Given the description of an element on the screen output the (x, y) to click on. 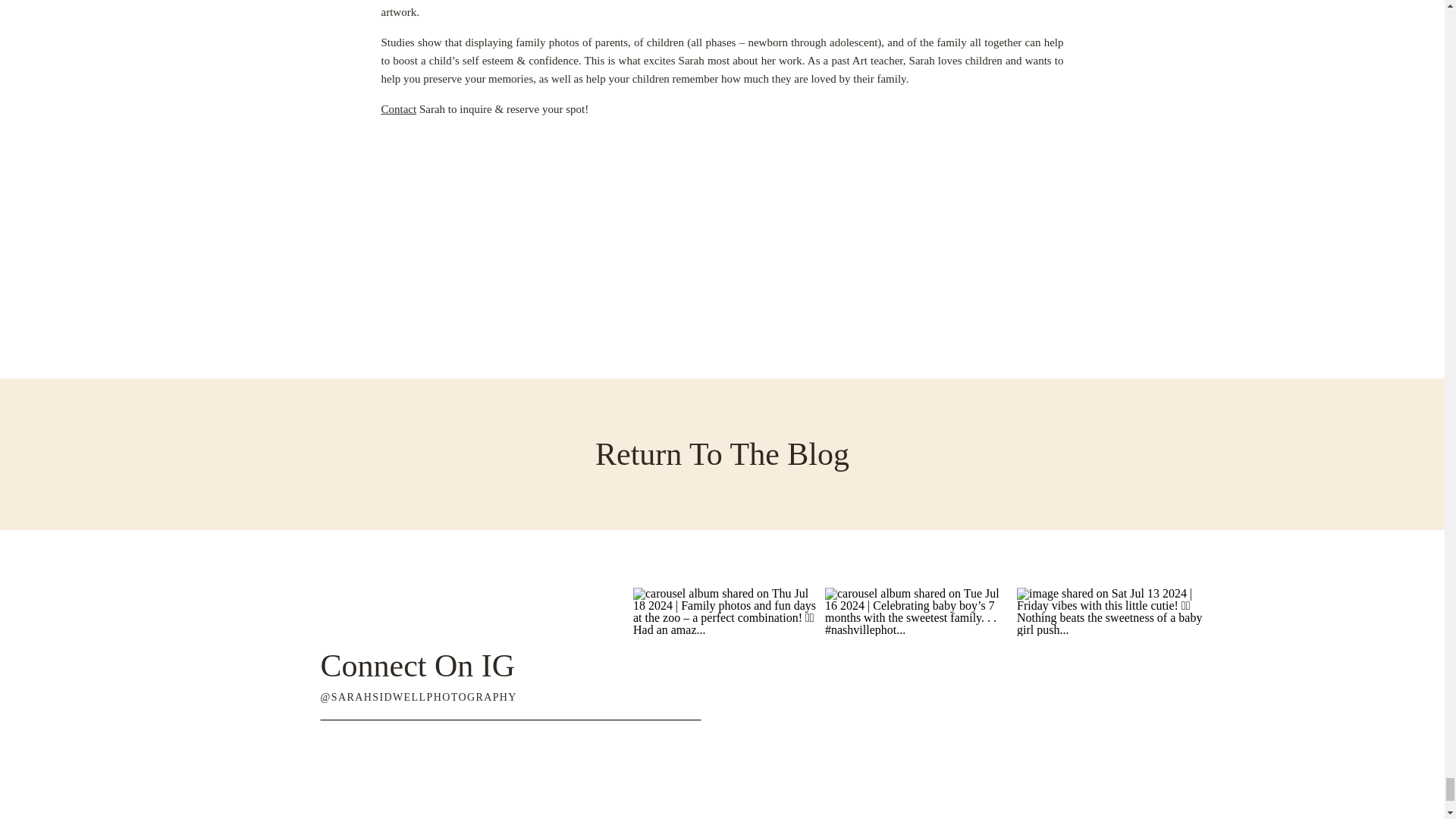
Contact (398, 109)
Return To The Blog (722, 453)
